Given the description of an element on the screen output the (x, y) to click on. 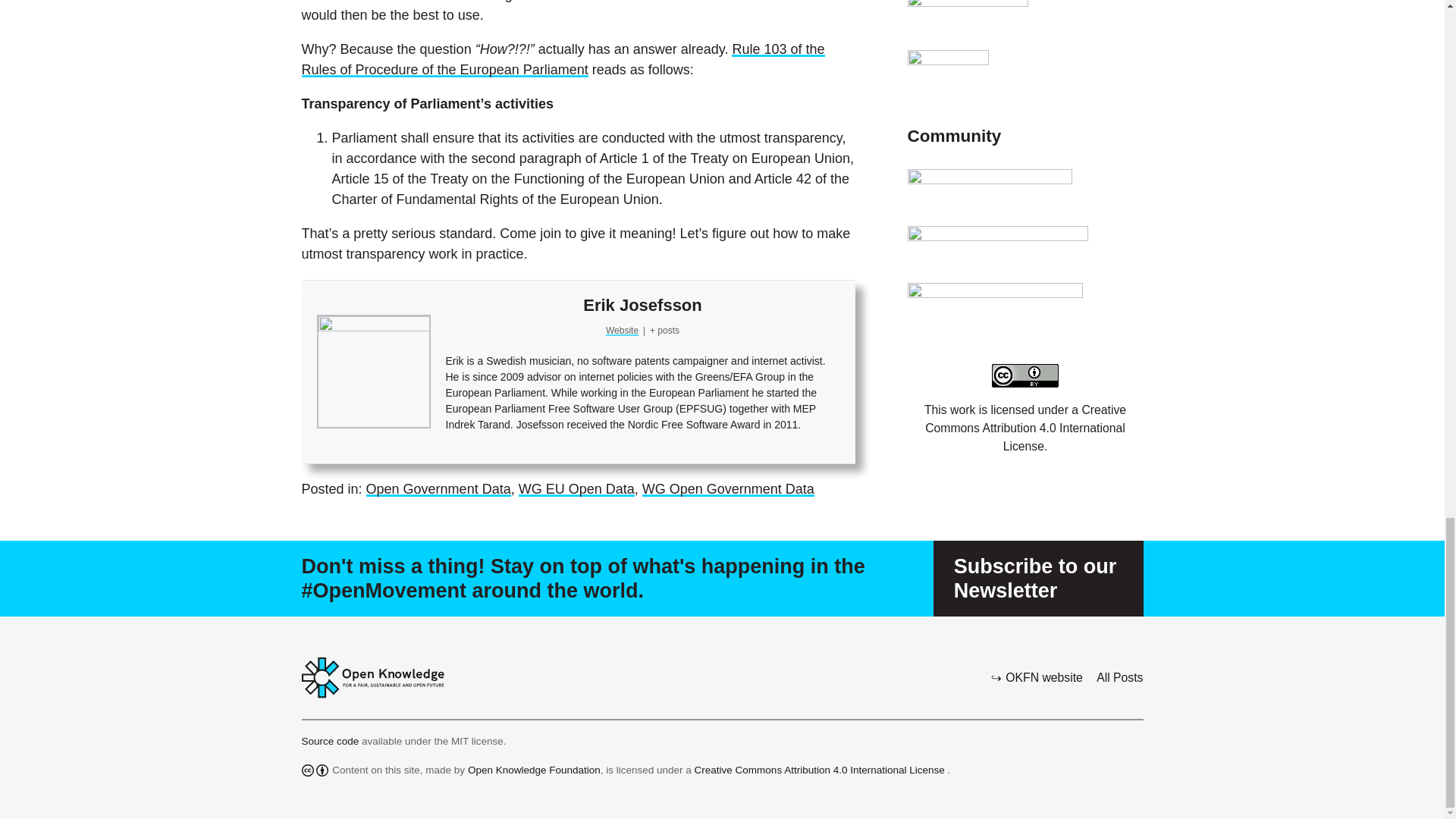
cc (307, 770)
by (322, 770)
Site source code (331, 740)
